Given the description of an element on the screen output the (x, y) to click on. 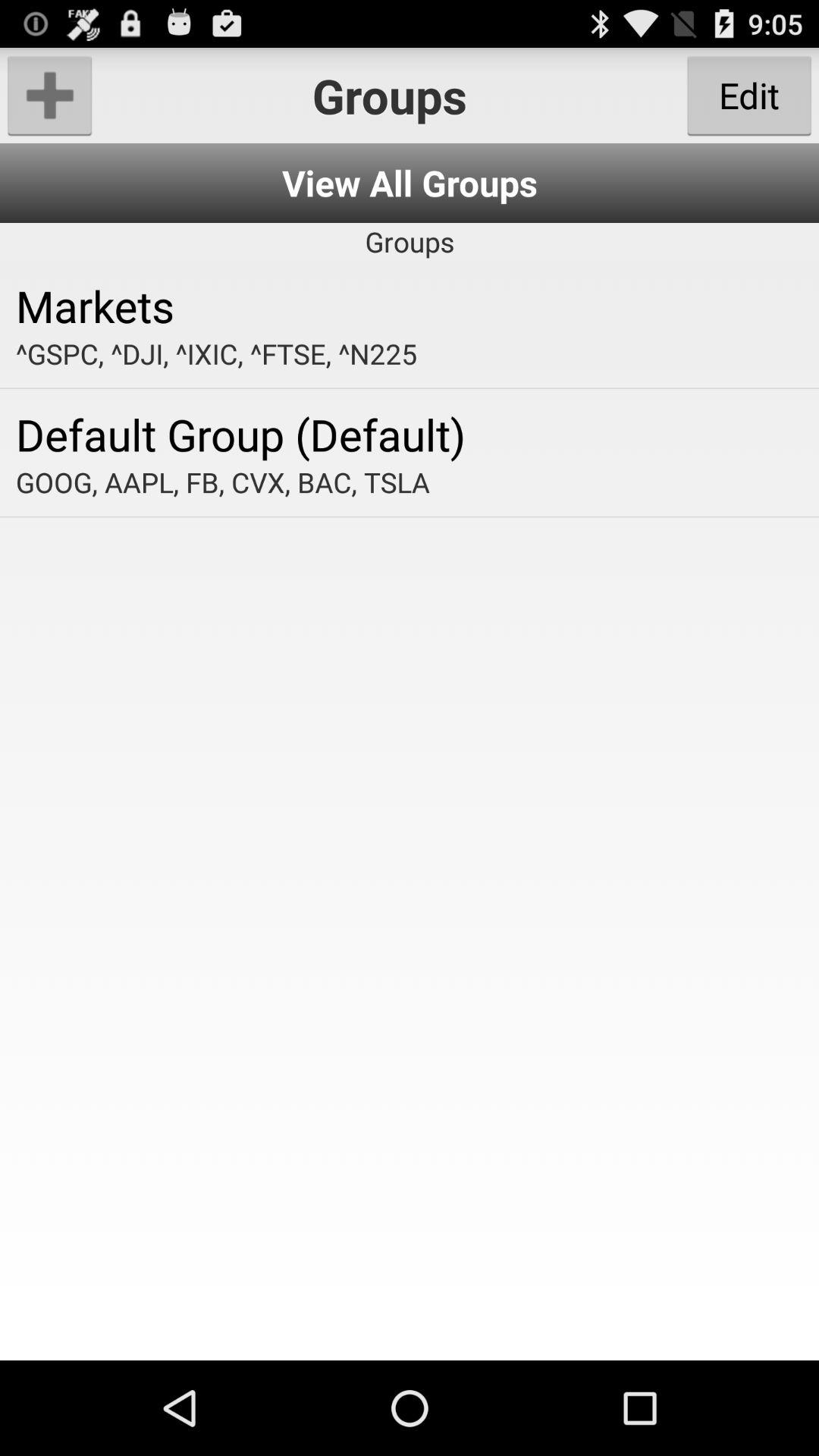
turn off the app next to groups item (749, 95)
